Given the description of an element on the screen output the (x, y) to click on. 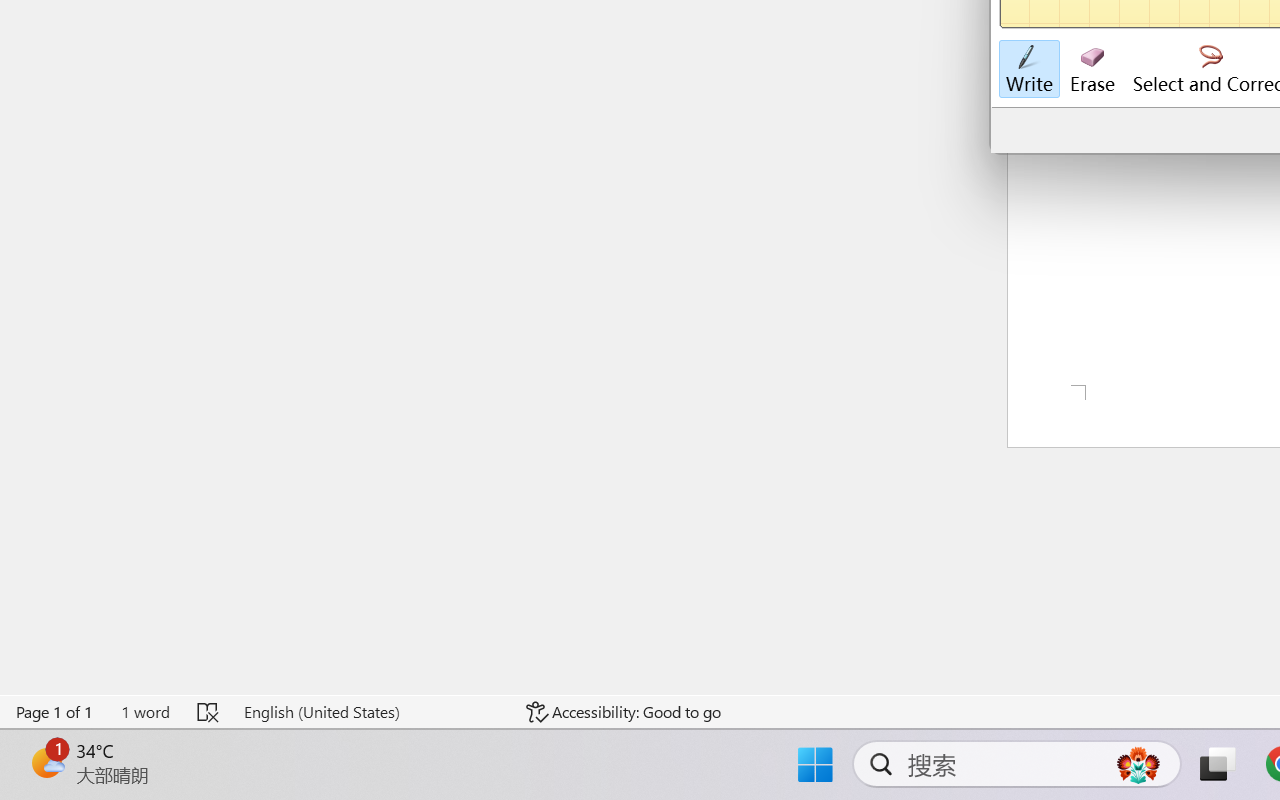
Write (1028, 69)
Erase (1092, 69)
